Given the description of an element on the screen output the (x, y) to click on. 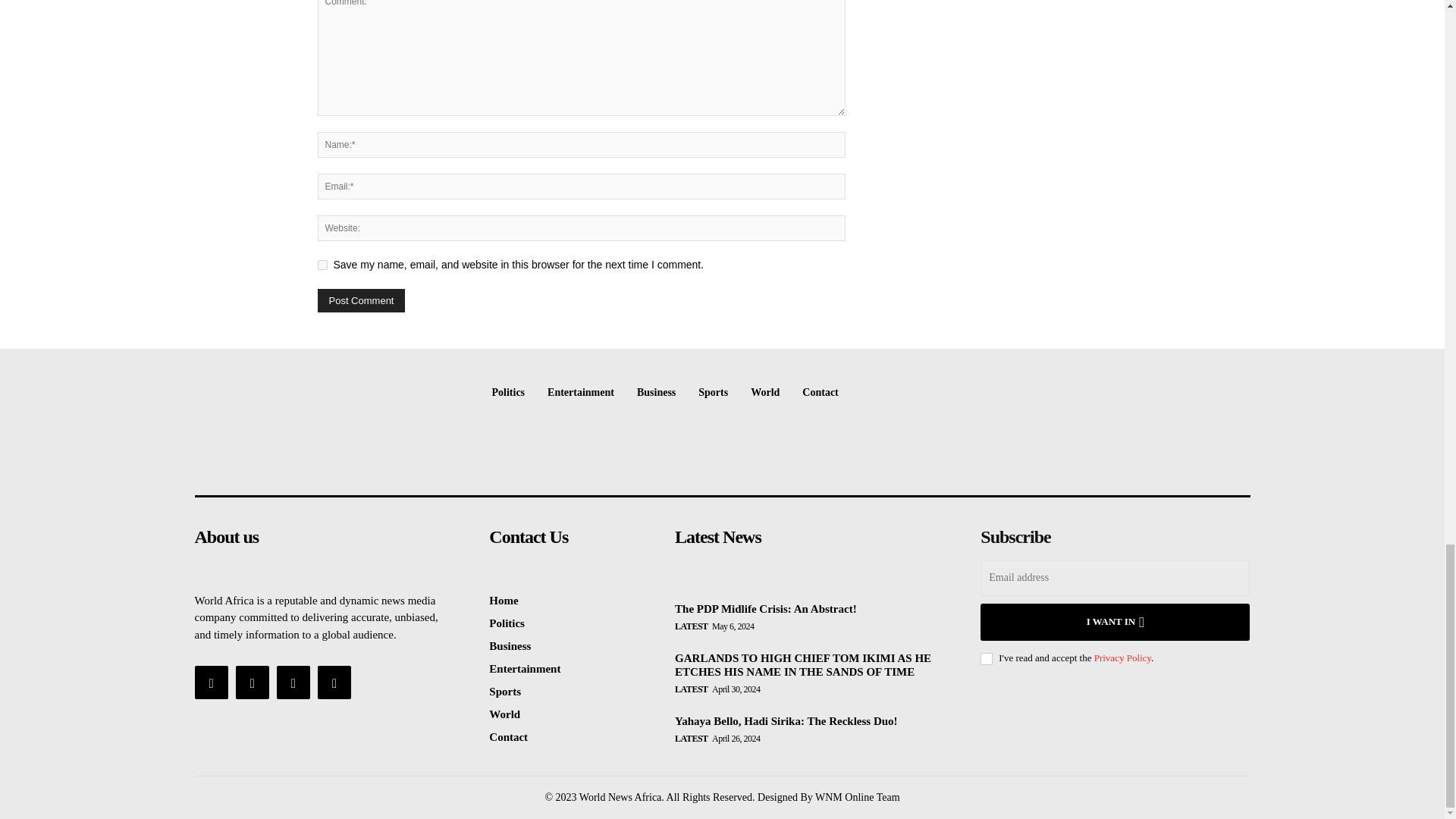
yes (321, 265)
Post Comment (360, 300)
